Given the description of an element on the screen output the (x, y) to click on. 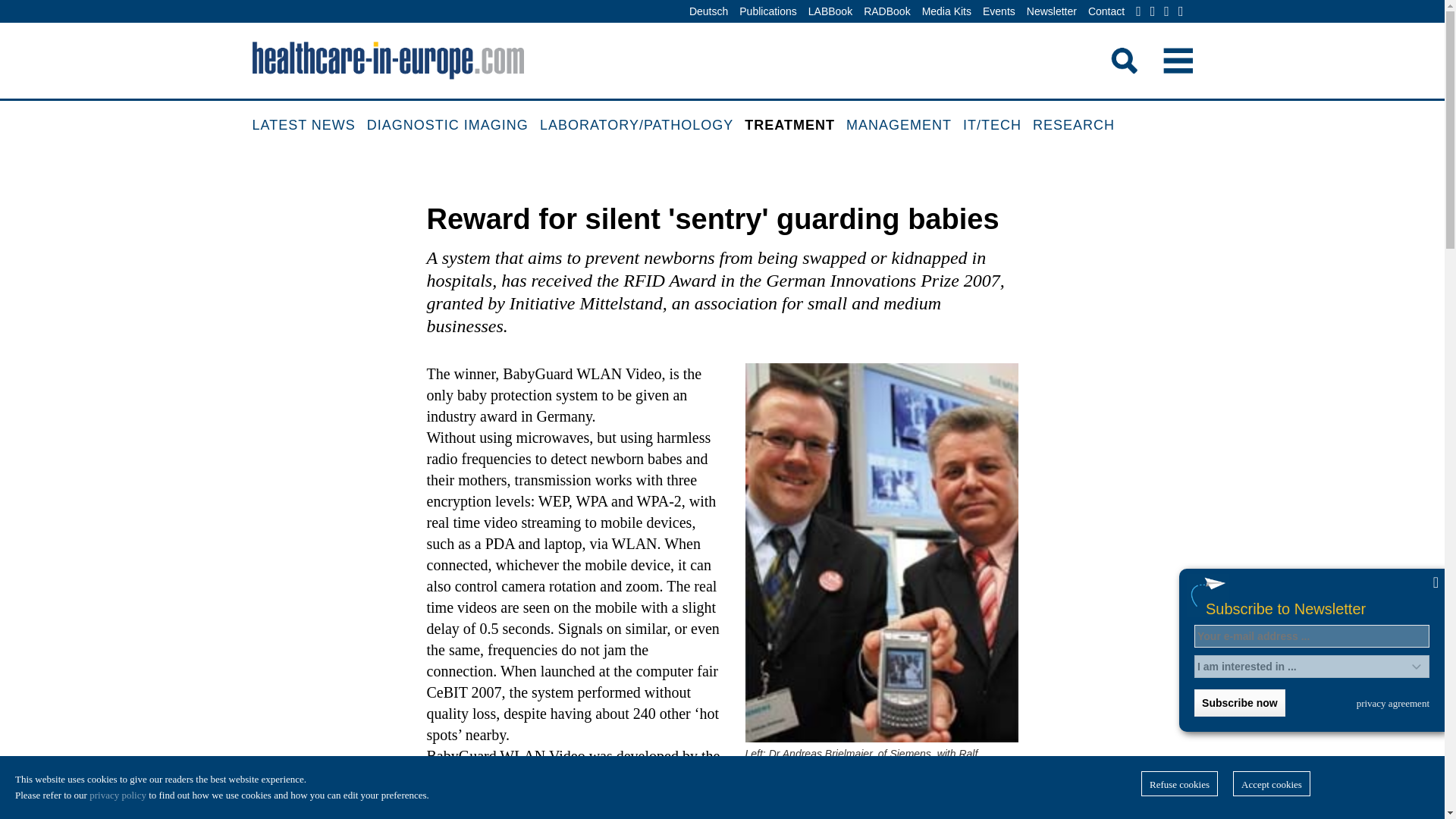
Deutsch (708, 12)
Media Kits (946, 12)
LABBook (830, 12)
Newsletter (1051, 12)
privacy agreement (1392, 703)
LATEST NEWS (308, 126)
RADBook (887, 12)
MANAGEMENT (903, 126)
Contact (1106, 12)
DIAGNOSTIC IMAGING (453, 126)
